Given the description of an element on the screen output the (x, y) to click on. 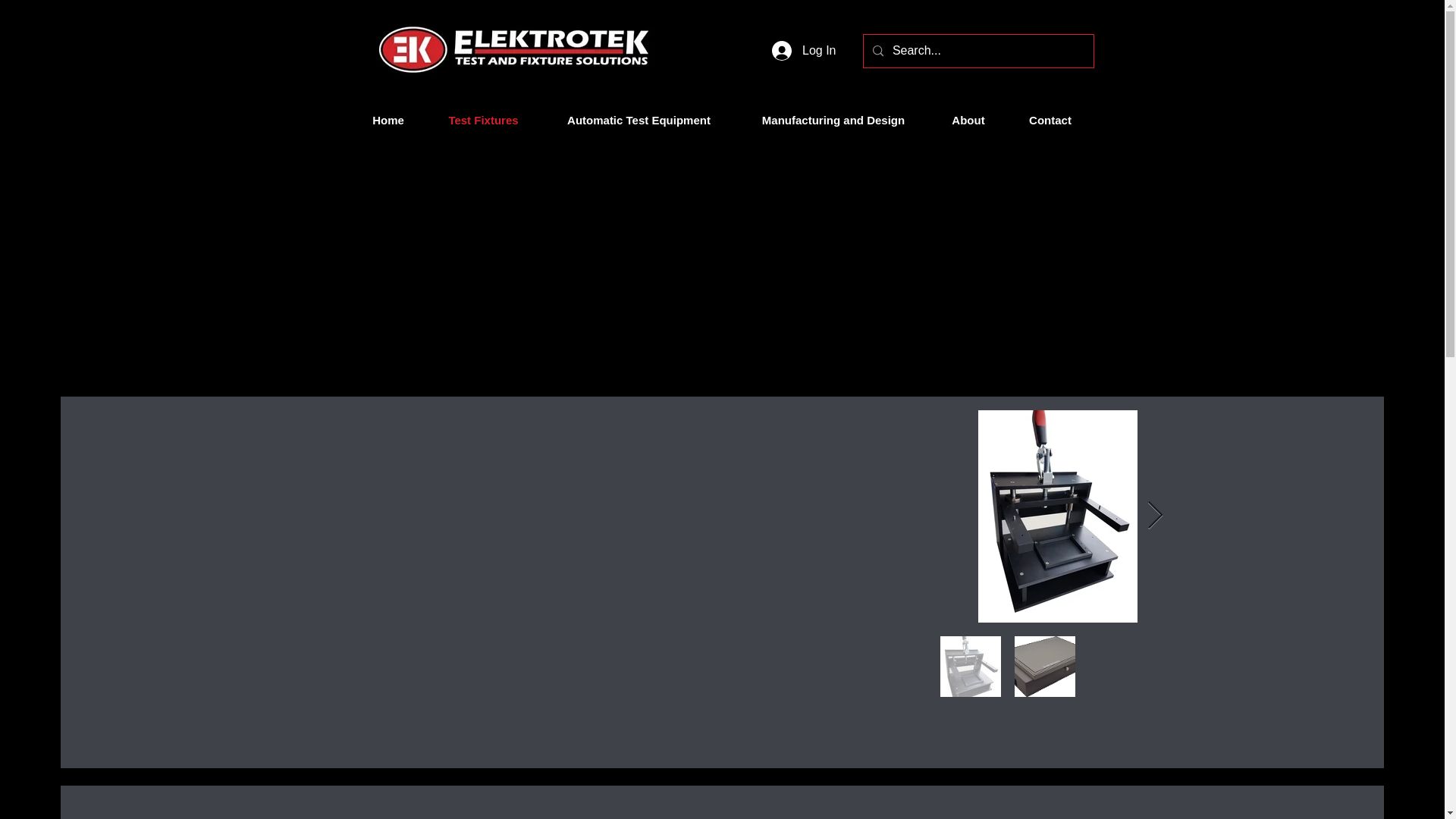
Contact (1050, 120)
Home (387, 120)
Manufacturing and Design (833, 120)
Automatic Test Equipment (638, 120)
About (968, 120)
Test Fixtures (483, 120)
Log In (803, 50)
